Given the description of an element on the screen output the (x, y) to click on. 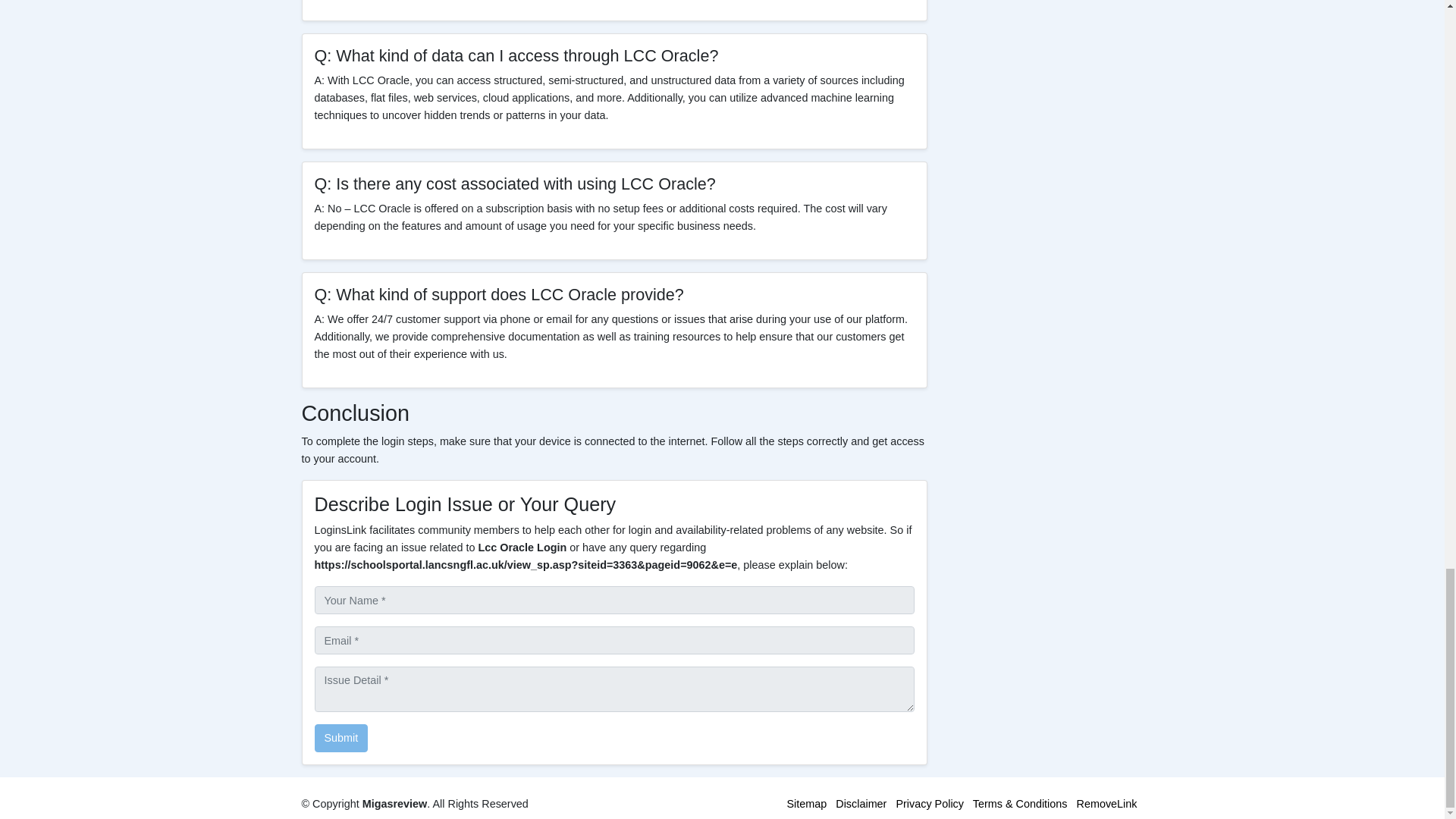
Submit (341, 737)
Privacy Policy (929, 803)
Disclaimer (860, 803)
Sitemap (806, 803)
RemoveLink (1107, 803)
